Given the description of an element on the screen output the (x, y) to click on. 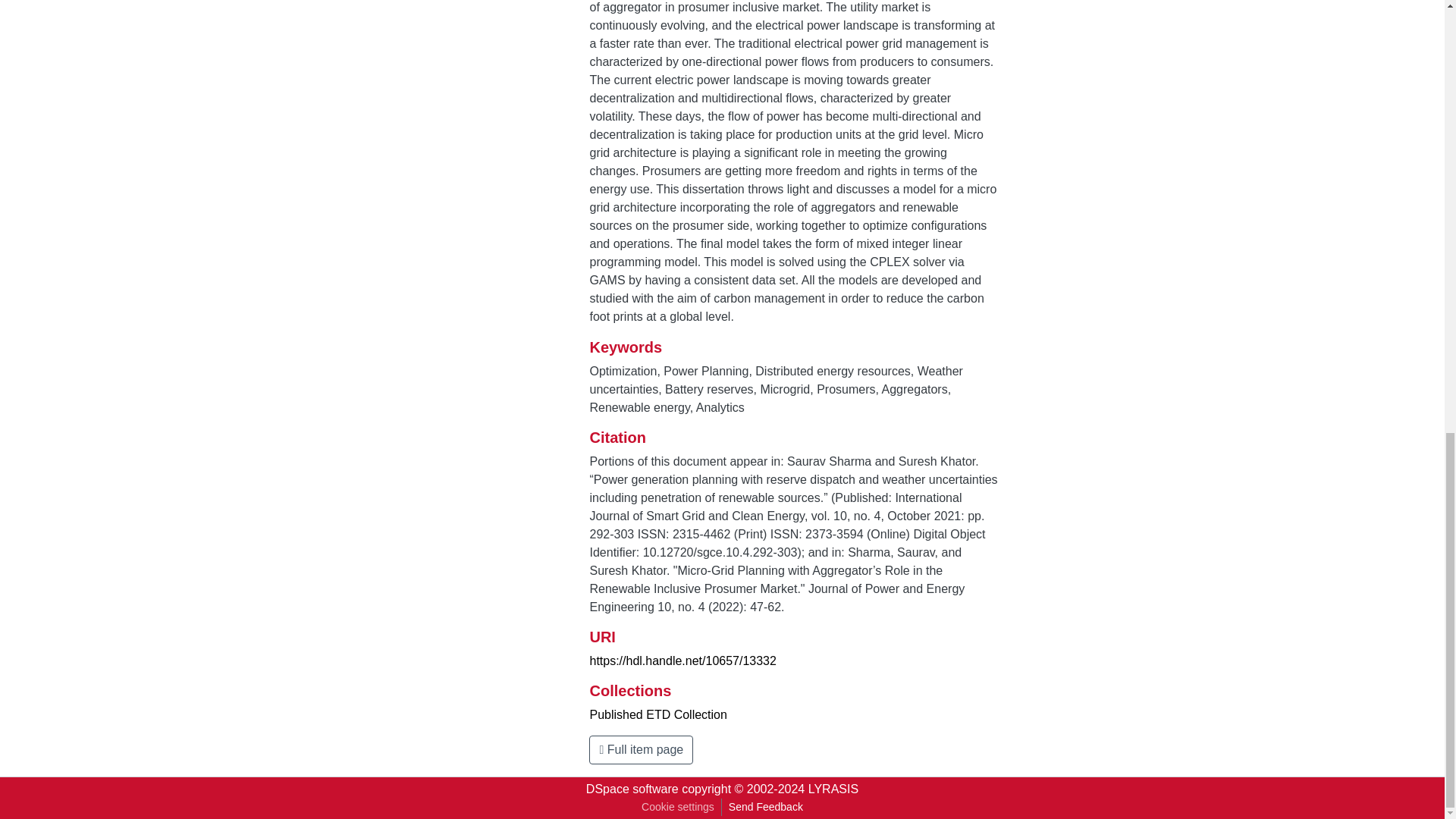
DSpace software (632, 788)
Cookie settings (677, 806)
Send Feedback (765, 806)
Published ETD Collection (657, 714)
LYRASIS (833, 788)
Full item page (641, 749)
